Given the description of an element on the screen output the (x, y) to click on. 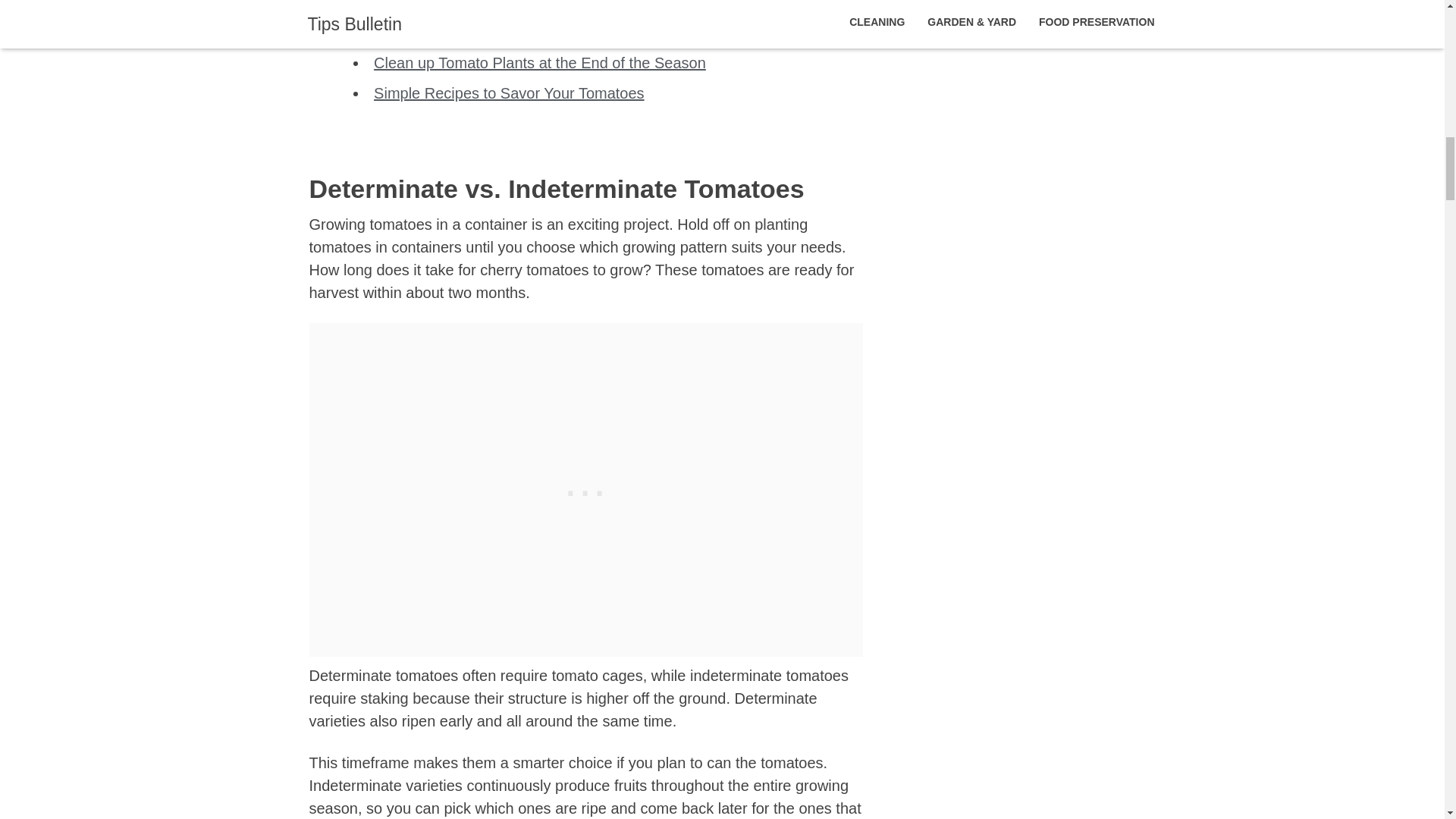
Tomato Pests and Diseases (468, 5)
Tips to Prevent Plant Disease (473, 32)
Clean up Tomato Plants at the End of the Season (540, 62)
Simple Recipes to Savor Your Tomatoes (509, 93)
